Given the description of an element on the screen output the (x, y) to click on. 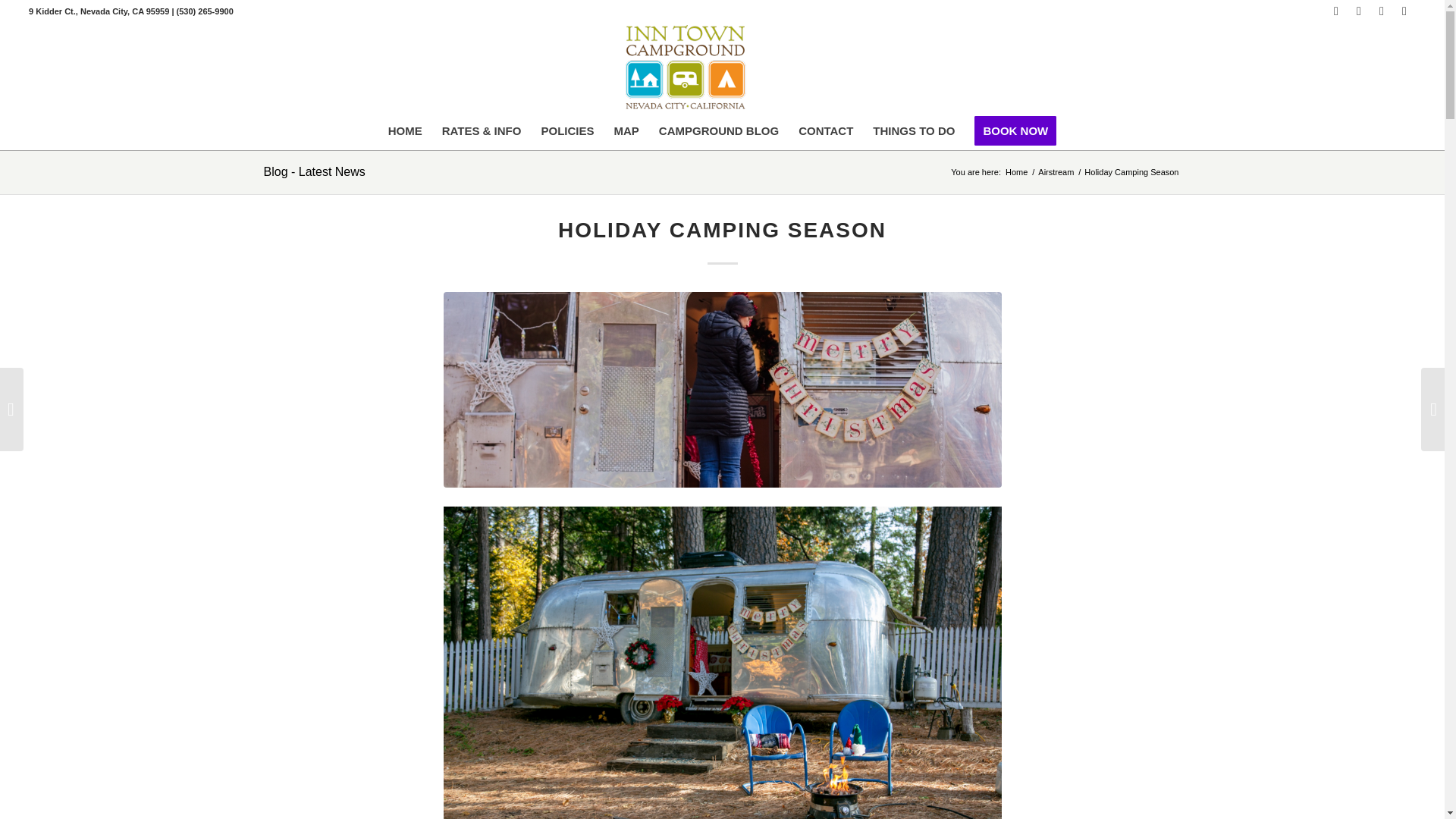
HOME (405, 130)
POLICIES (567, 130)
CampXmas-1 (721, 388)
MAP (625, 130)
THINGS TO DO (913, 130)
Facebook (1336, 11)
Permanent Link: Blog - Latest News (314, 171)
Instagram (1381, 11)
Twitter (1359, 11)
9 Kidder Ct., Nevada City, CA 95959 (100, 10)
Airstream (1055, 172)
BOOK NOW (1014, 130)
Home (1016, 172)
Blog - Latest News (314, 171)
CAMPGROUND BLOG (719, 130)
